Given the description of an element on the screen output the (x, y) to click on. 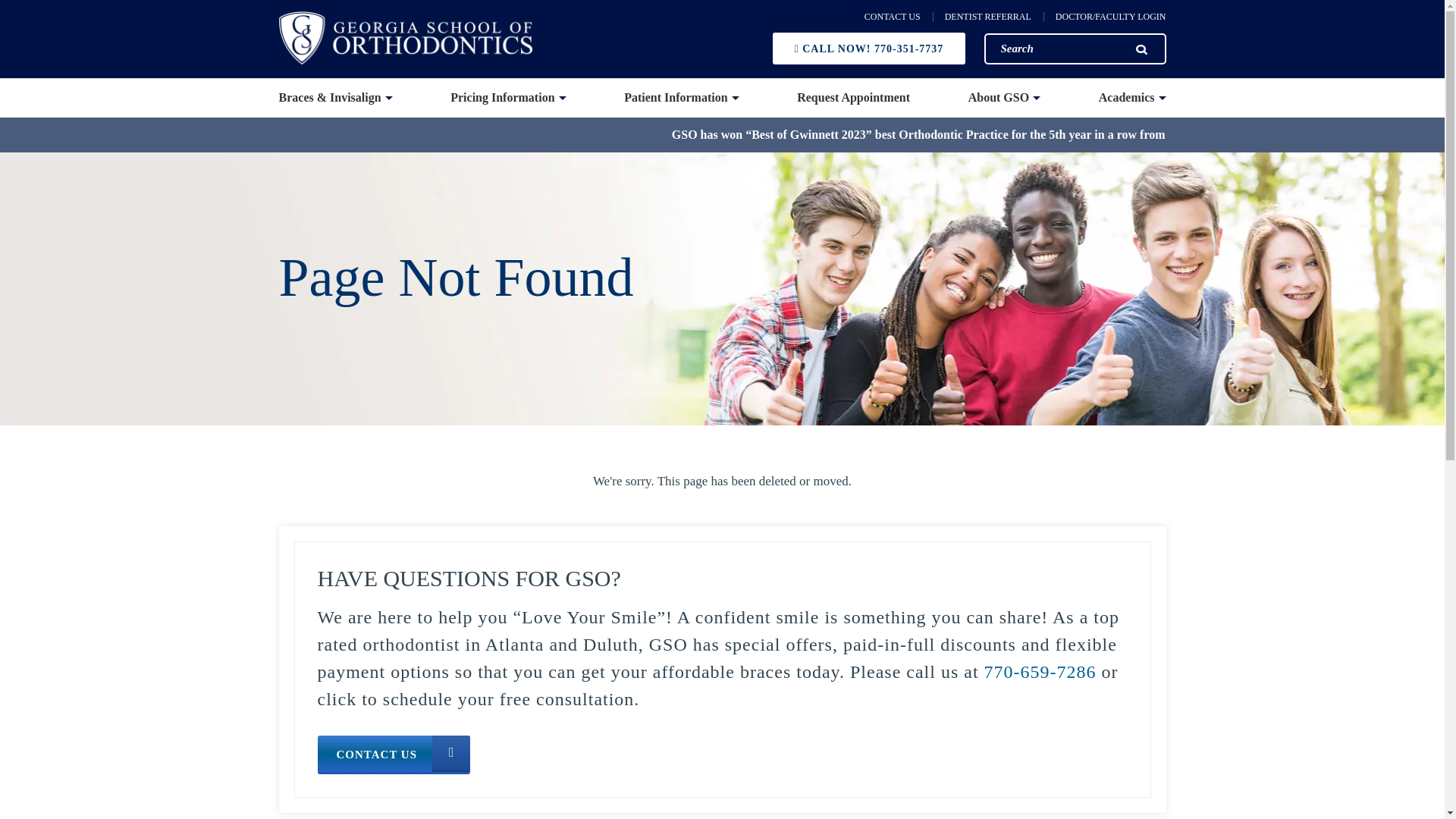
CONTACT US (892, 16)
Patient Information (681, 97)
CALL NOW! 770-351-7737 (869, 48)
DENTIST REFERRAL (981, 16)
Georgia School of Orthodontics (405, 37)
Pricing Information (507, 97)
